Given the description of an element on the screen output the (x, y) to click on. 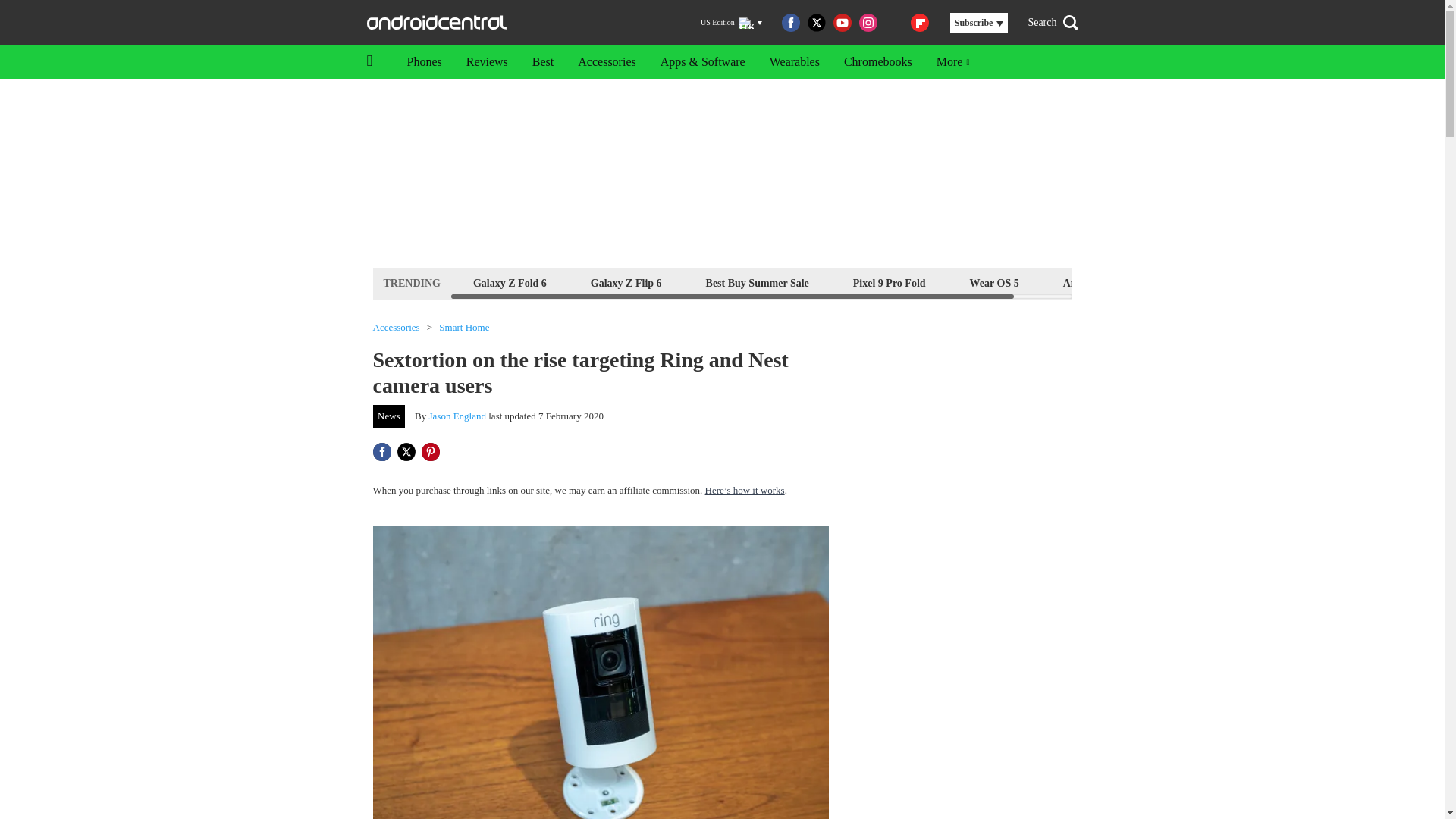
Chromebooks (877, 61)
Wearables (794, 61)
Best (542, 61)
Accessories (396, 327)
Android 15 (1088, 282)
Pixel 9 Pro Fold (889, 282)
Smart Home (464, 327)
Wear OS 5 (994, 282)
News (389, 415)
Jason England (457, 415)
Galaxy Z Flip 6 (625, 282)
US Edition (731, 22)
Galaxy Z Fold 6 (509, 282)
Best Buy Summer Sale (756, 282)
Reviews (486, 61)
